Given the description of an element on the screen output the (x, y) to click on. 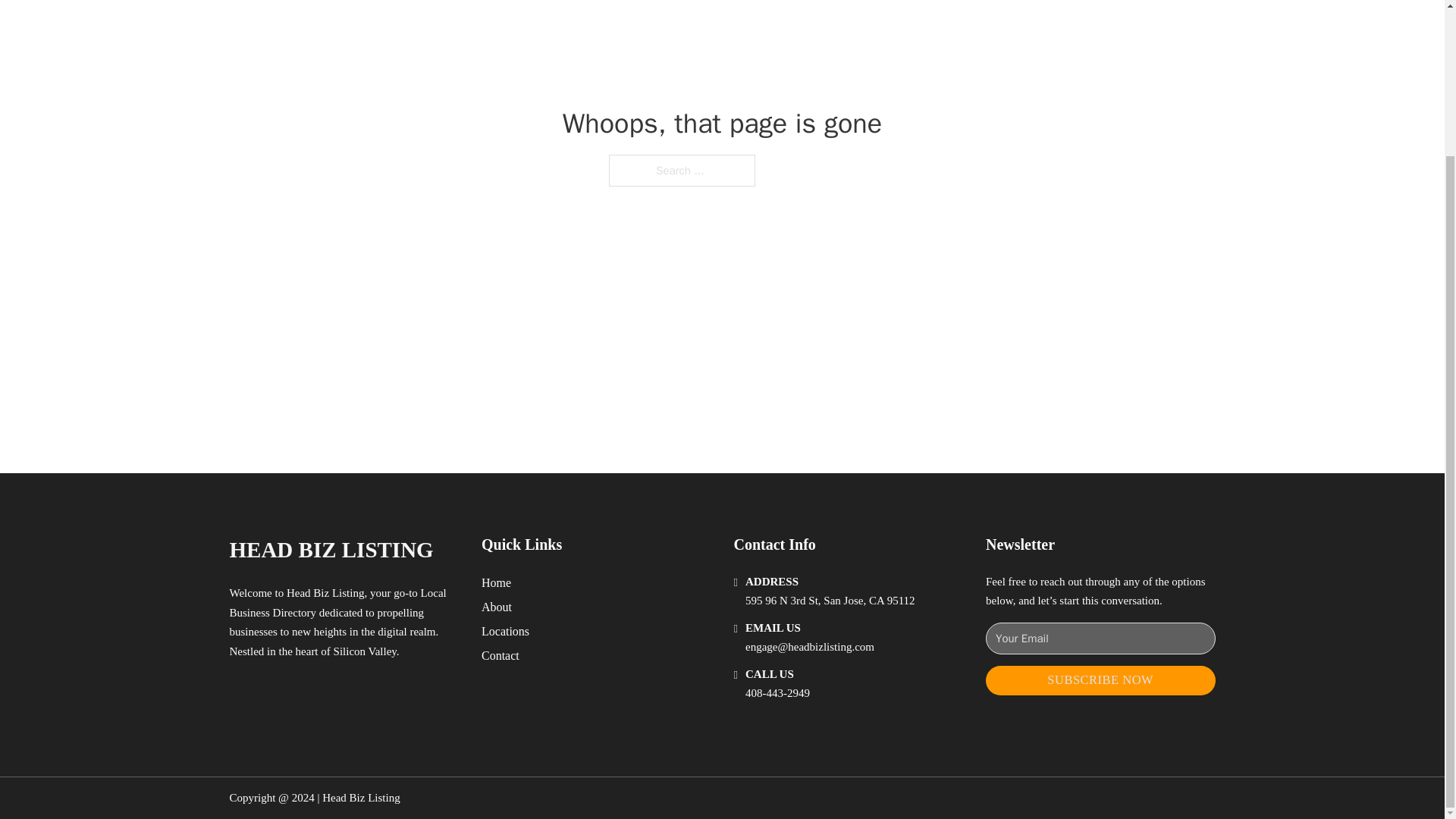
408-443-2949 (777, 693)
SUBSCRIBE NOW (1100, 680)
Home (496, 582)
HEAD BIZ LISTING (330, 549)
Contact (500, 655)
About (496, 607)
Locations (505, 630)
